Given the description of an element on the screen output the (x, y) to click on. 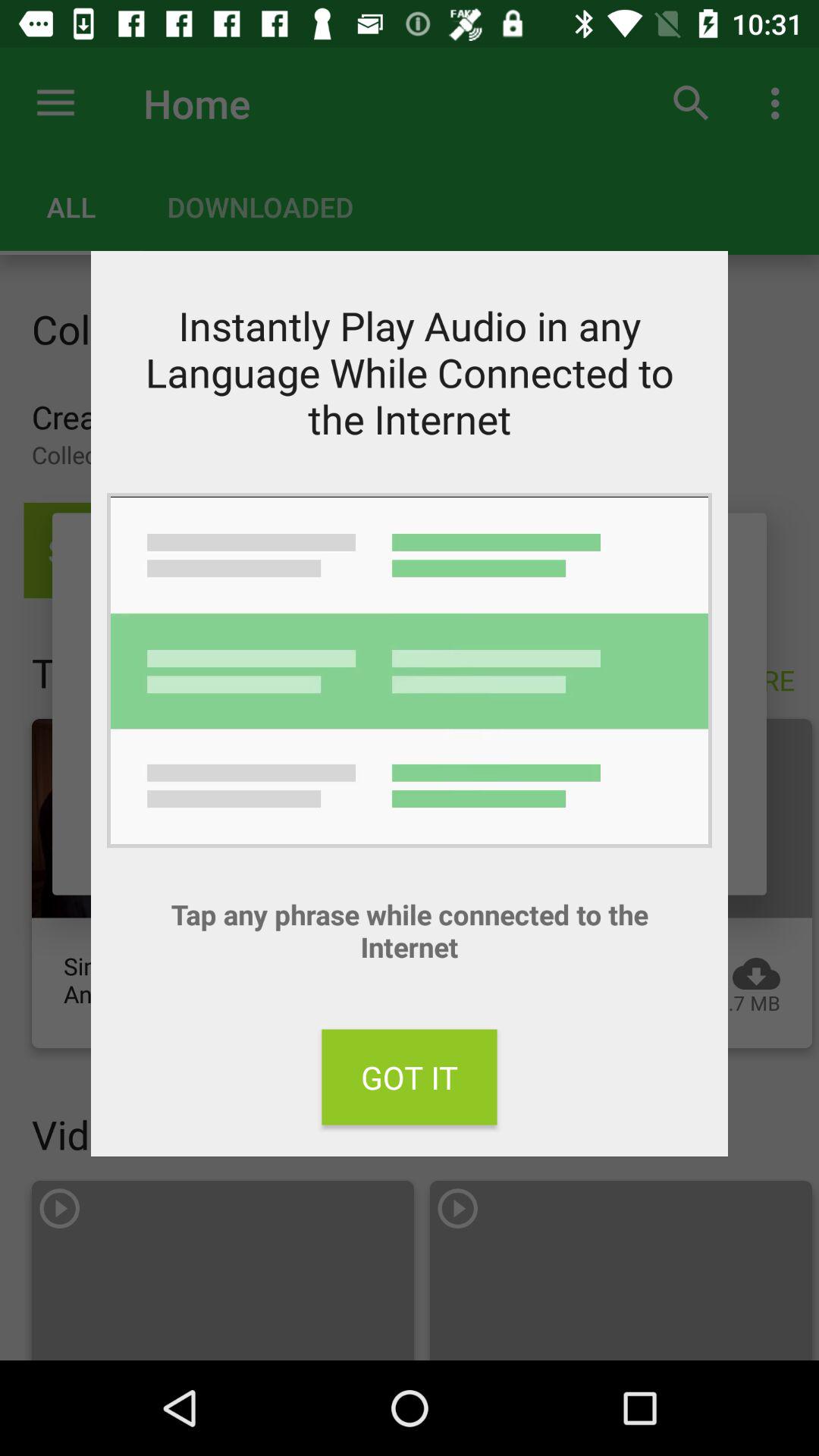
open the item at the bottom (409, 1076)
